Given the description of an element on the screen output the (x, y) to click on. 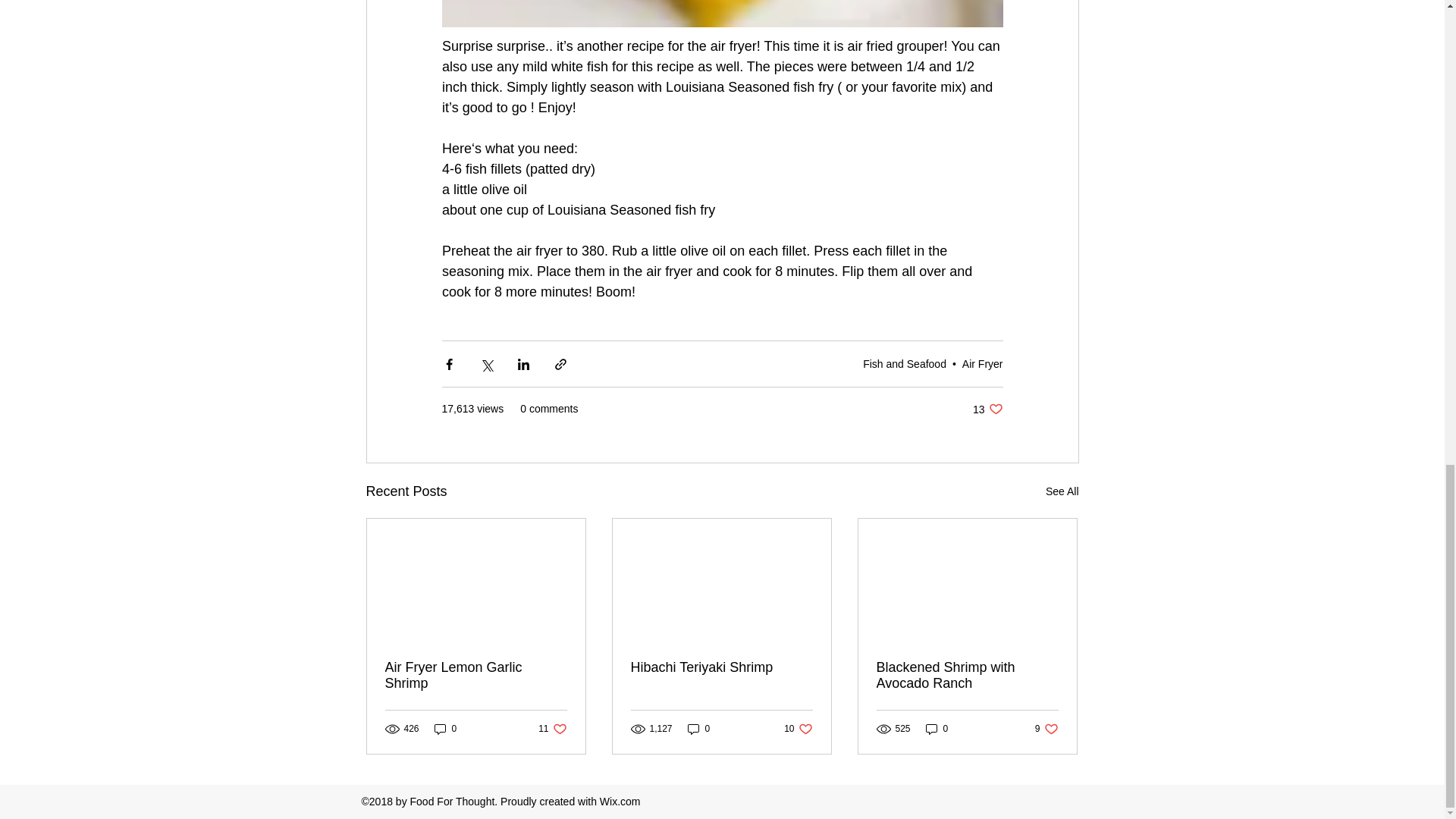
Hibachi Teriyaki Shrimp (721, 667)
0 (698, 728)
0 (552, 728)
Fish and Seafood (445, 728)
Air Fryer Lemon Garlic Shrimp (904, 363)
See All (798, 728)
Air Fryer (476, 675)
